Given the description of an element on the screen output the (x, y) to click on. 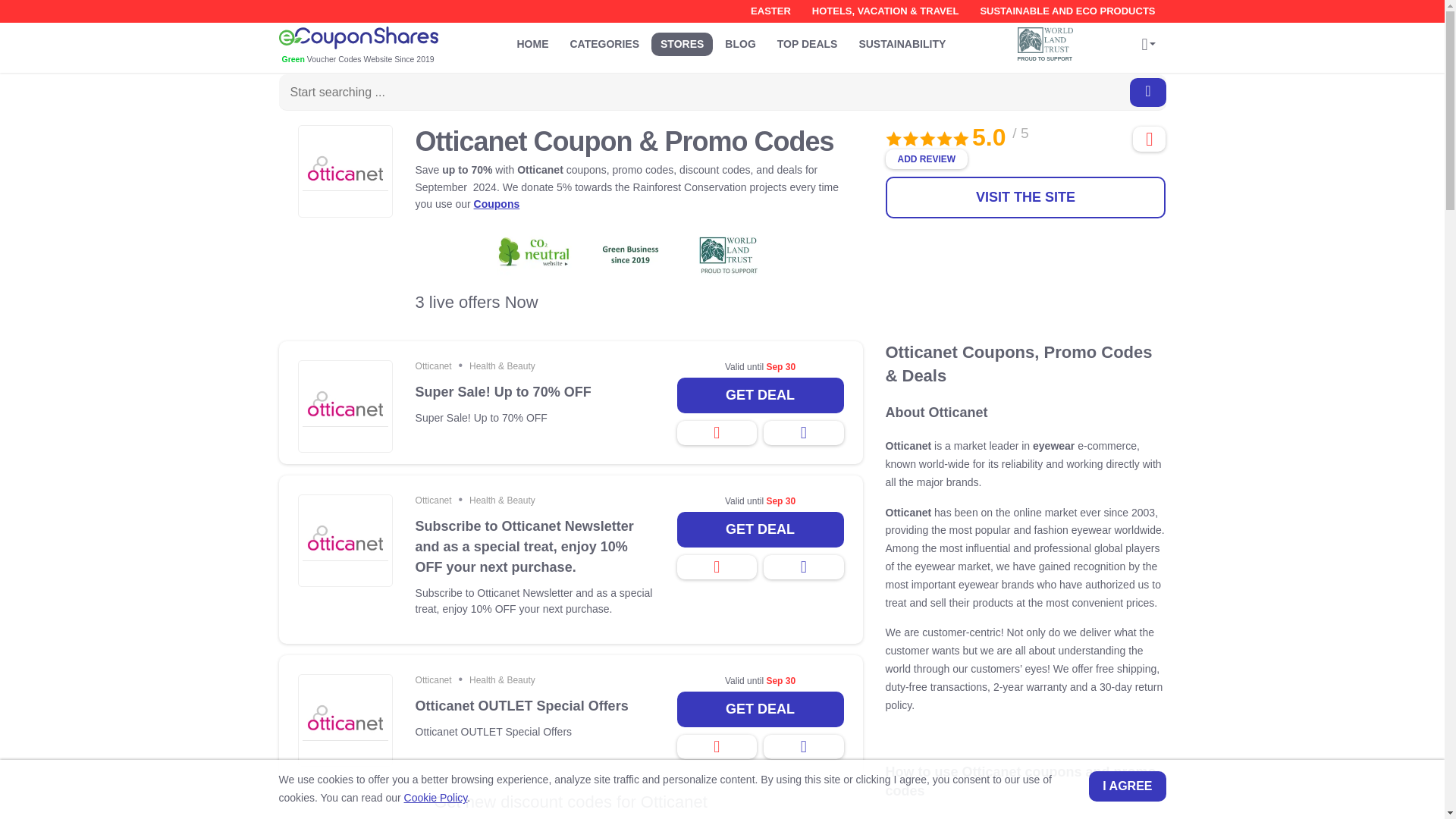
Personal Area (1148, 45)
GET DEAL (760, 709)
BLOG (740, 44)
World Land Trust (1045, 40)
HOME (532, 44)
VISIT THE SITE (1025, 197)
STORES (681, 44)
Sustainability (901, 44)
SUSTAINABLE AND ECO PRODUCTS (1067, 11)
GET DEAL (760, 529)
